Given the description of an element on the screen output the (x, y) to click on. 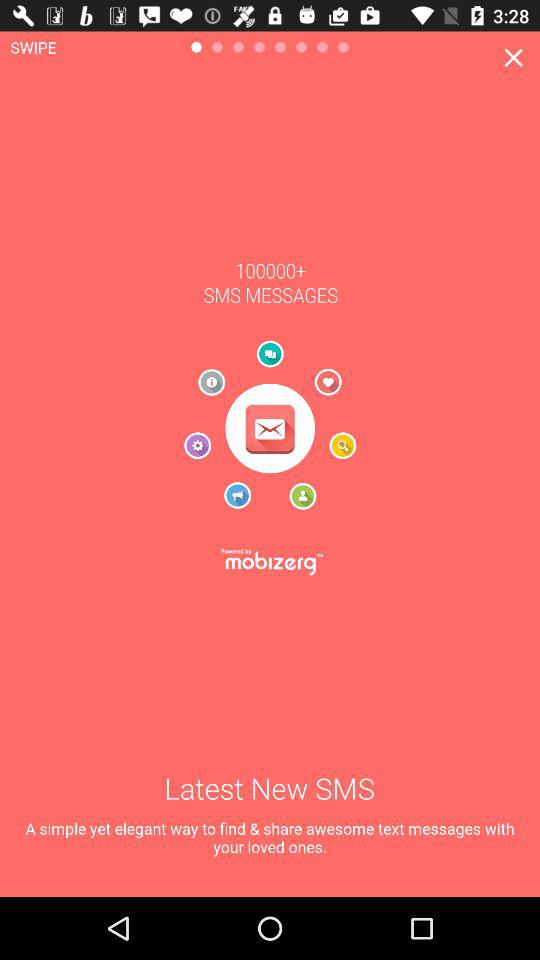
close the window (513, 57)
